Given the description of an element on the screen output the (x, y) to click on. 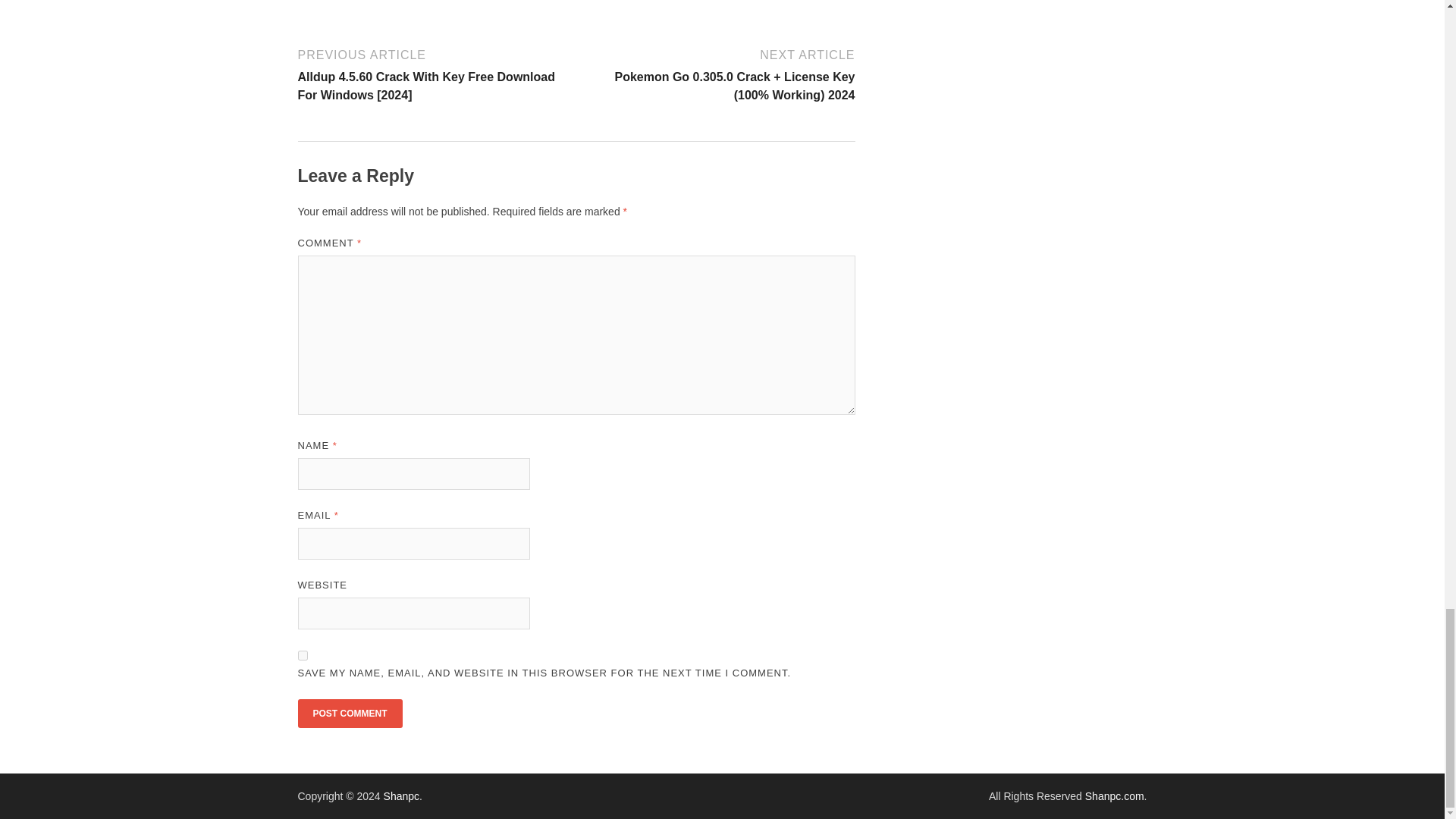
Shanpc (401, 796)
yes (302, 655)
Shanpc.com (1114, 796)
Post Comment (349, 713)
